Given the description of an element on the screen output the (x, y) to click on. 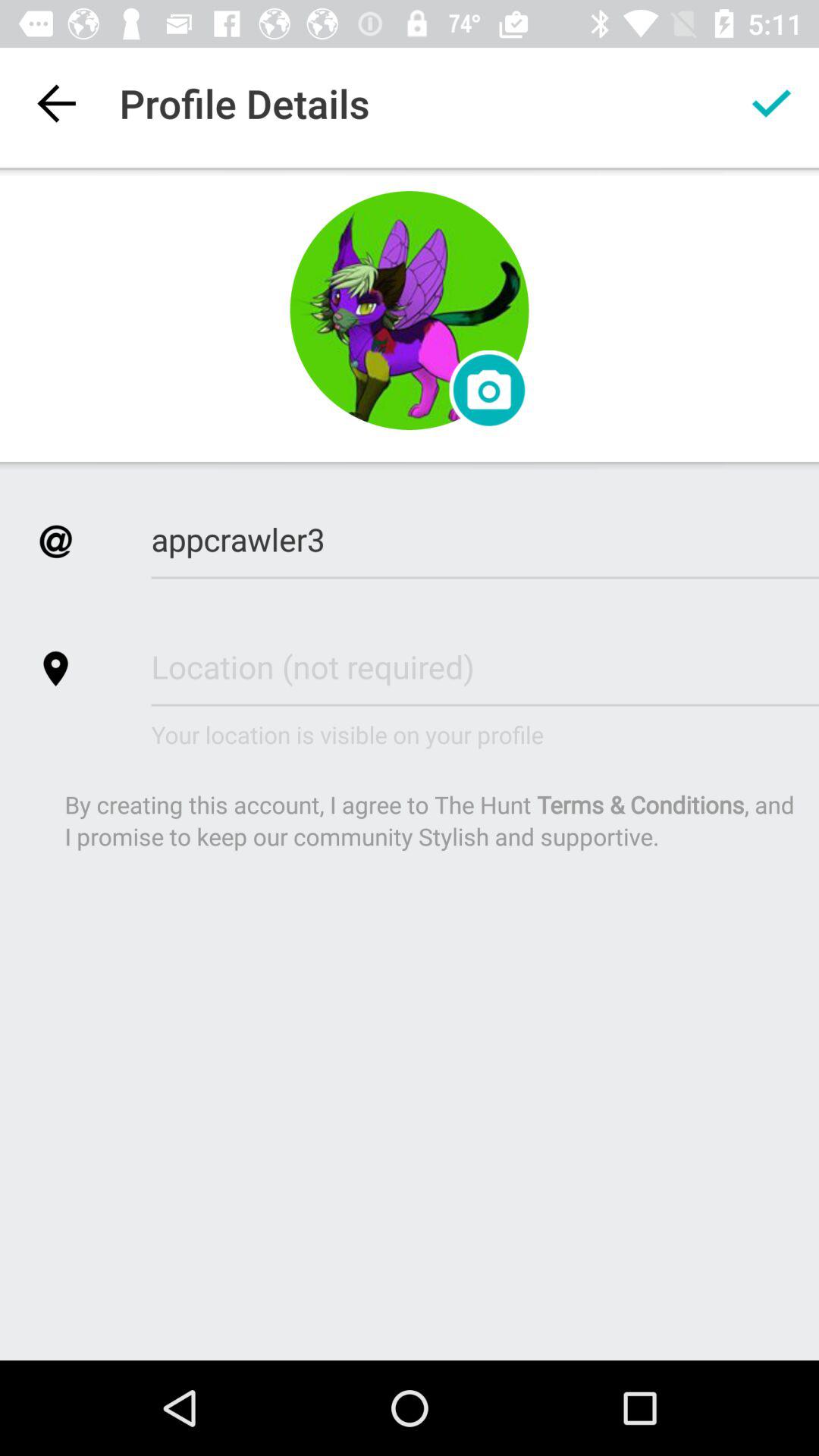
a box that lets you enter location details for profile (485, 666)
